Given the description of an element on the screen output the (x, y) to click on. 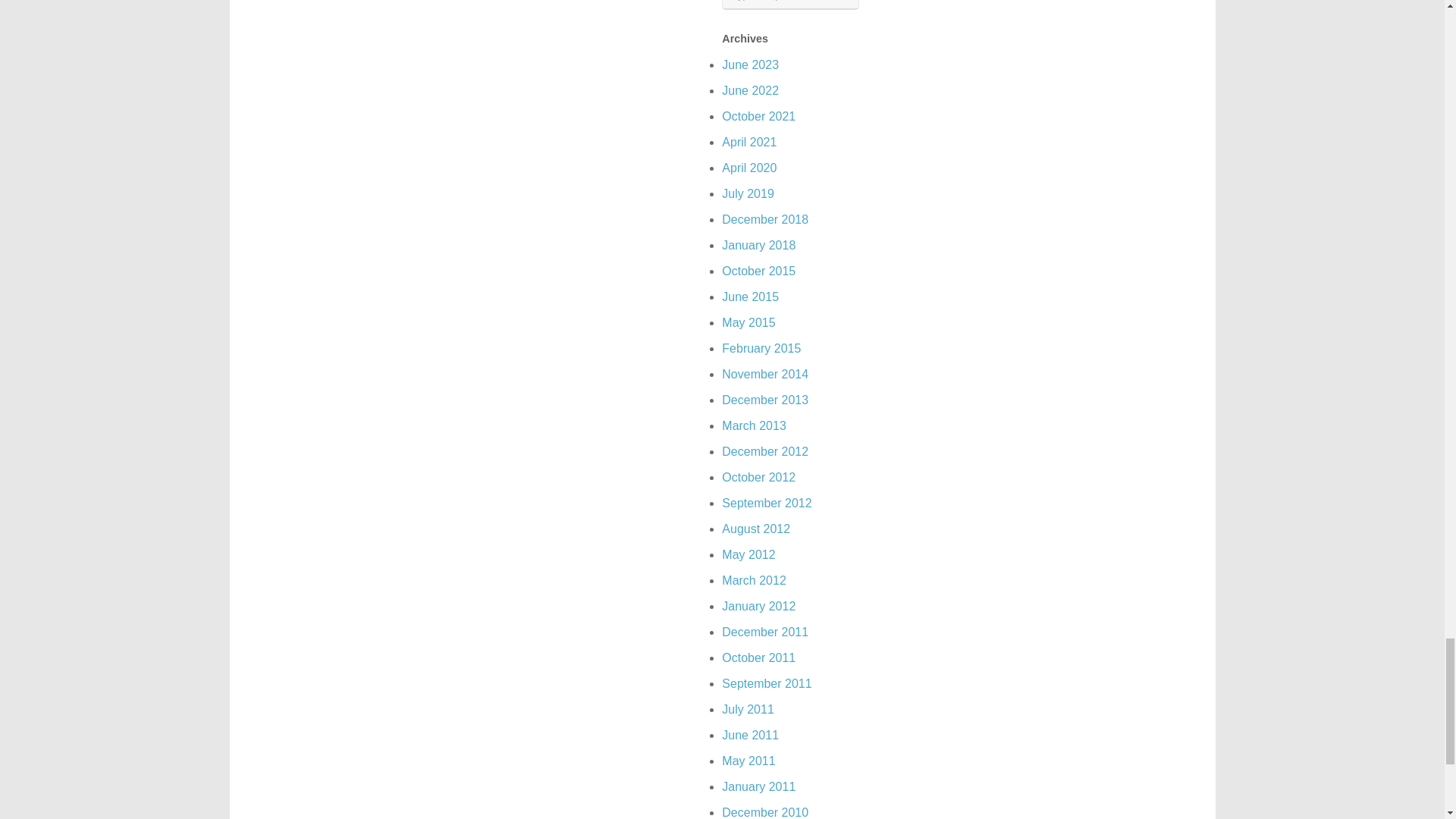
December 2012 (765, 451)
June 2022 (750, 90)
November 2014 (765, 373)
July 2011 (748, 708)
September 2012 (766, 502)
October 2021 (758, 115)
April 2021 (749, 141)
January 2018 (758, 245)
October 2012 (758, 477)
October 2015 (758, 270)
Type and press enter to search. (790, 4)
June 2015 (750, 296)
December 2011 (765, 631)
August 2012 (756, 528)
December 2013 (765, 399)
